Given the description of an element on the screen output the (x, y) to click on. 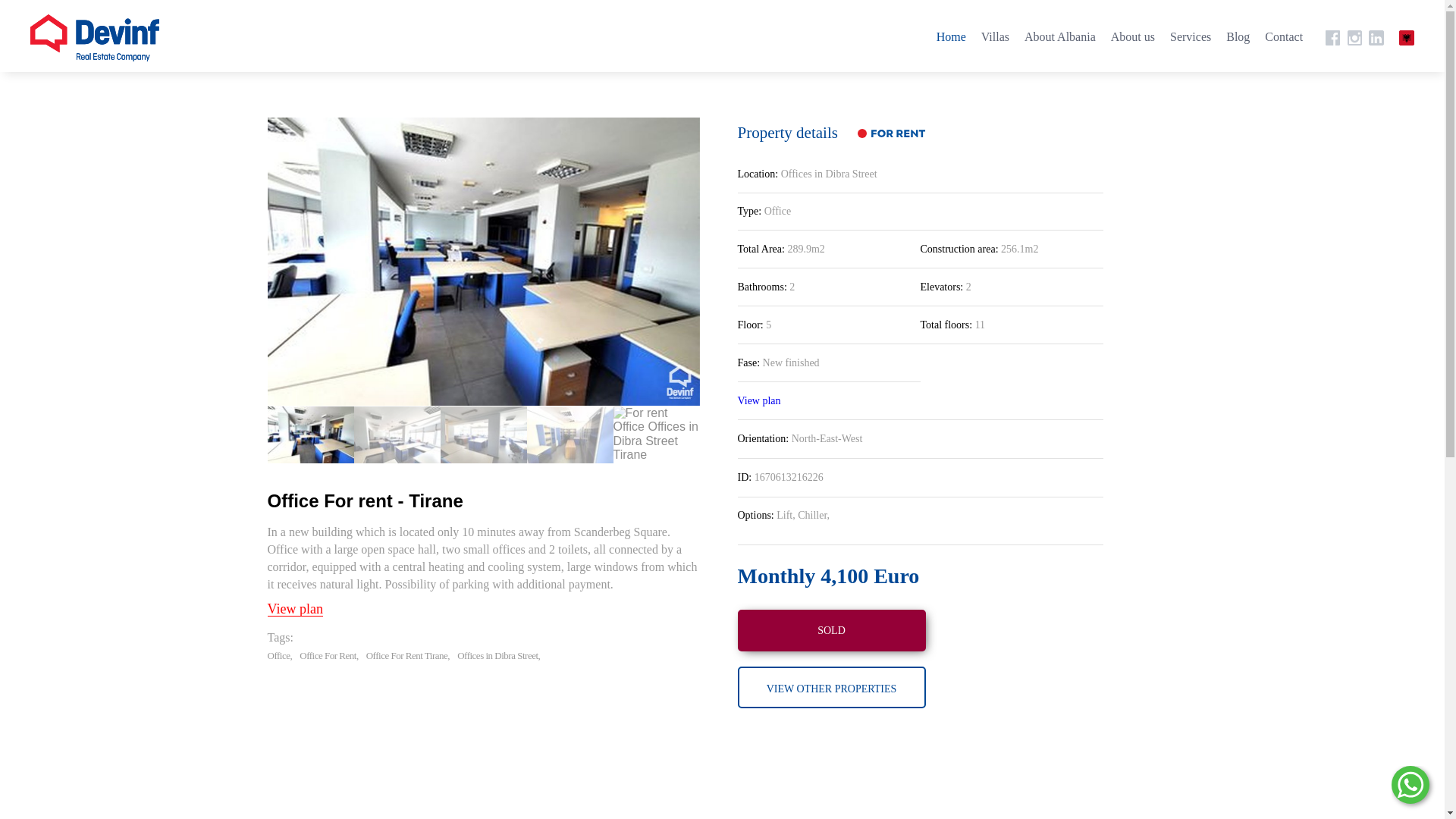
About us (1132, 36)
Contact (1284, 36)
Home (951, 36)
Blog (1237, 36)
Services (1190, 36)
SOLD (830, 630)
Villas (995, 36)
Office For Rent Tirane, (407, 651)
VIEW OTHER PROPERTIES (830, 687)
About Albania (1060, 36)
View plan (293, 608)
Office For Rent, (328, 651)
Offices in Dibra Street, (498, 651)
Office, (279, 651)
View plan (758, 400)
